Given the description of an element on the screen output the (x, y) to click on. 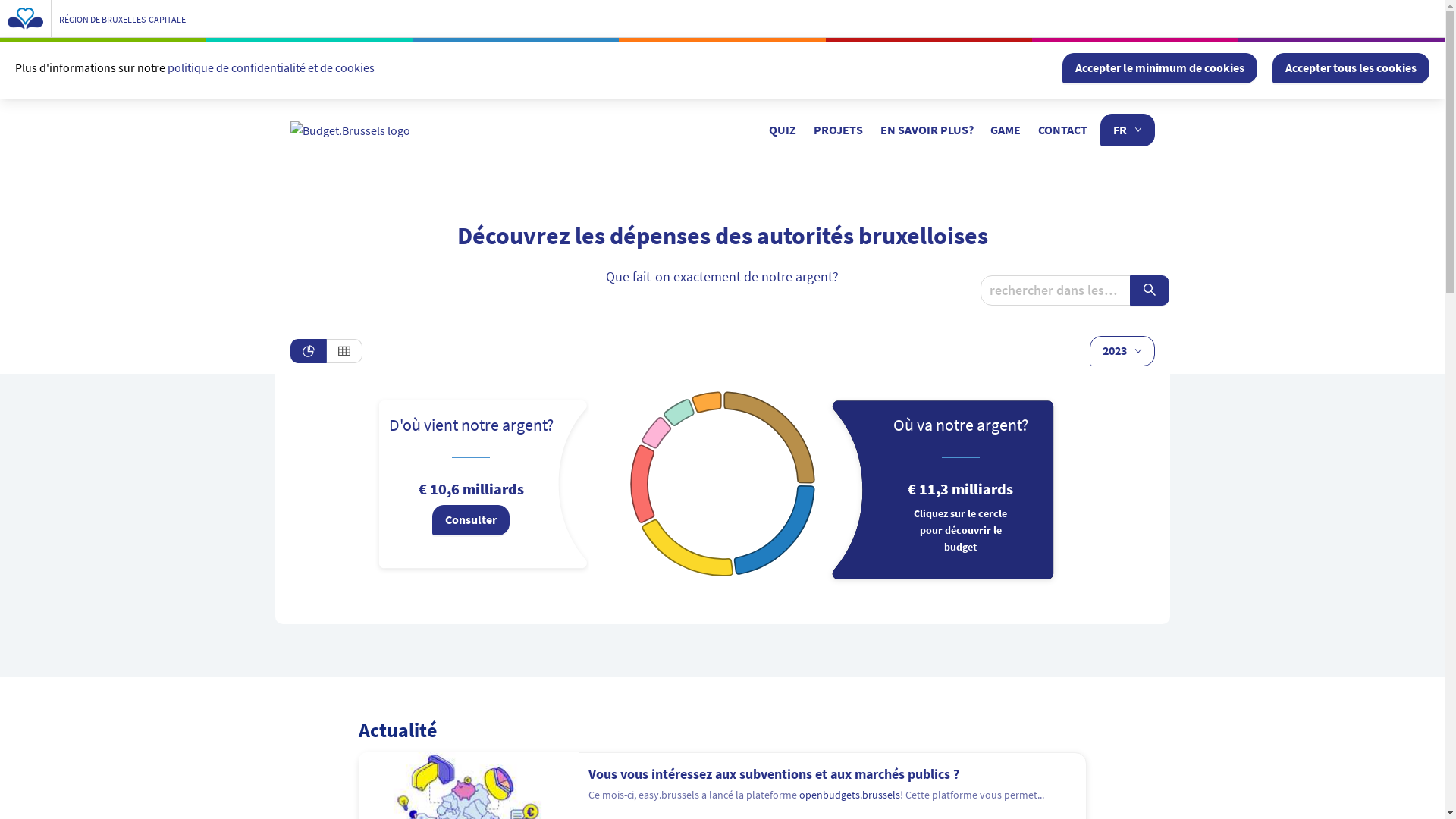
2023 Element type: text (1121, 350)
QUIZ Element type: text (782, 129)
CONTACT Element type: text (1062, 129)
FR Element type: text (1126, 129)
PROJETS Element type: text (837, 129)
GAME Element type: text (1005, 129)
openbudgets.brussels Element type: text (849, 794)
Accepter tous les cookies Element type: text (1350, 68)
Accepter le minimum de cookies Element type: text (1159, 68)
Consulter Element type: text (470, 520)
EN SAVOIR PLUS? Element type: text (926, 129)
